Given the description of an element on the screen output the (x, y) to click on. 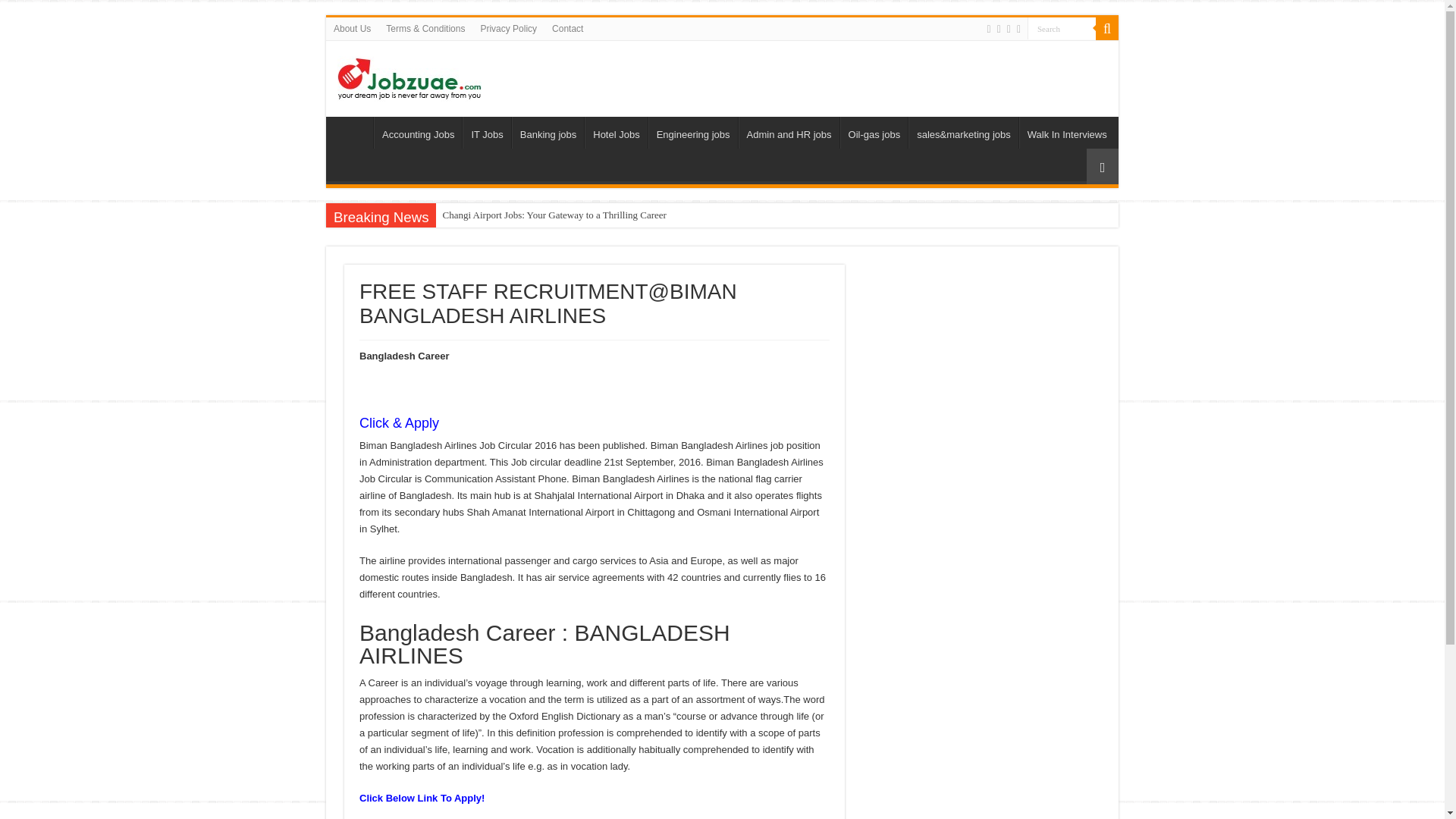
Search (1061, 28)
Changi Airport Jobs: Your Gateway to a Thrilling Career (555, 215)
Hotel Jobs (615, 132)
Random Article (1102, 166)
Search (1061, 28)
Engineering jobs (692, 132)
Accounting Jobs (417, 132)
Home (352, 132)
Contact (567, 28)
IT Jobs (487, 132)
Search (1061, 28)
Search (1107, 28)
Banking jobs (547, 132)
jobzuae (409, 75)
Walk In Interviews (1067, 132)
